Given the description of an element on the screen output the (x, y) to click on. 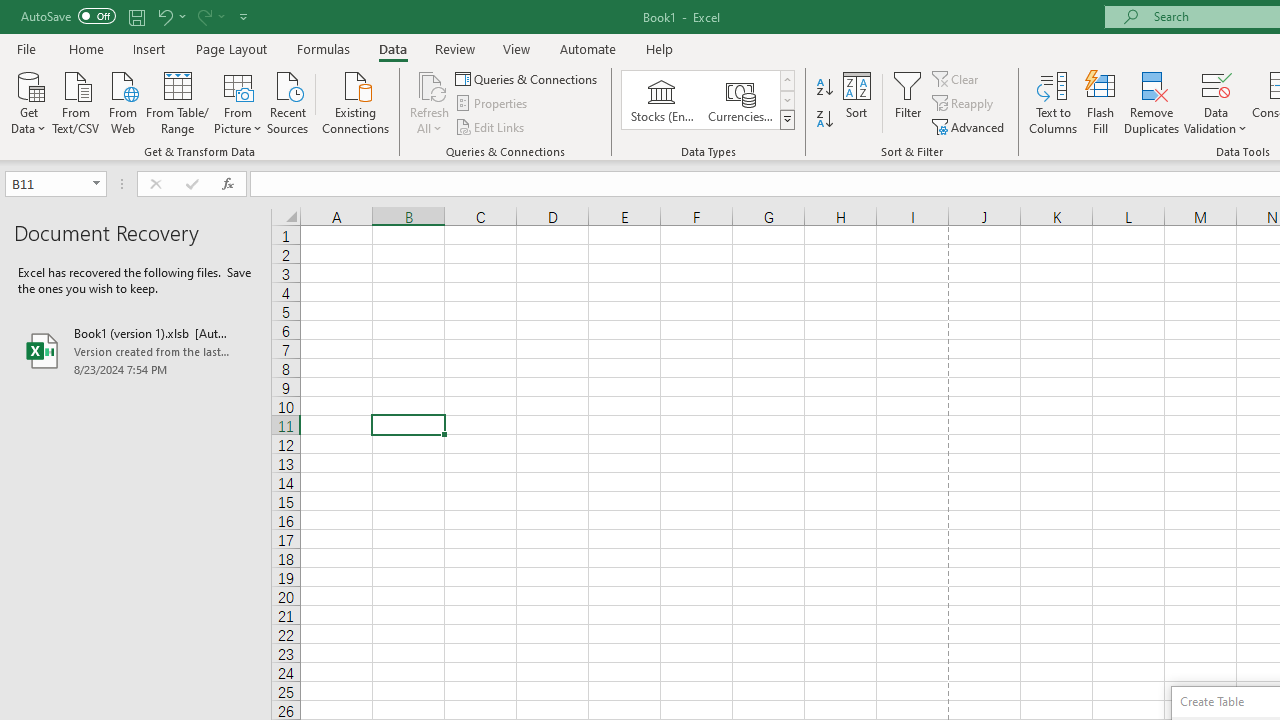
Existing Connections (355, 101)
Class: NetUIImage (787, 119)
Currencies (English) (740, 100)
Remove Duplicates (1151, 102)
Stocks (English) (662, 100)
AutomationID: ConvertToLinkedEntity (708, 99)
Advanced... (970, 126)
Sort Z to A (824, 119)
Text to Columns... (1053, 102)
